Given the description of an element on the screen output the (x, y) to click on. 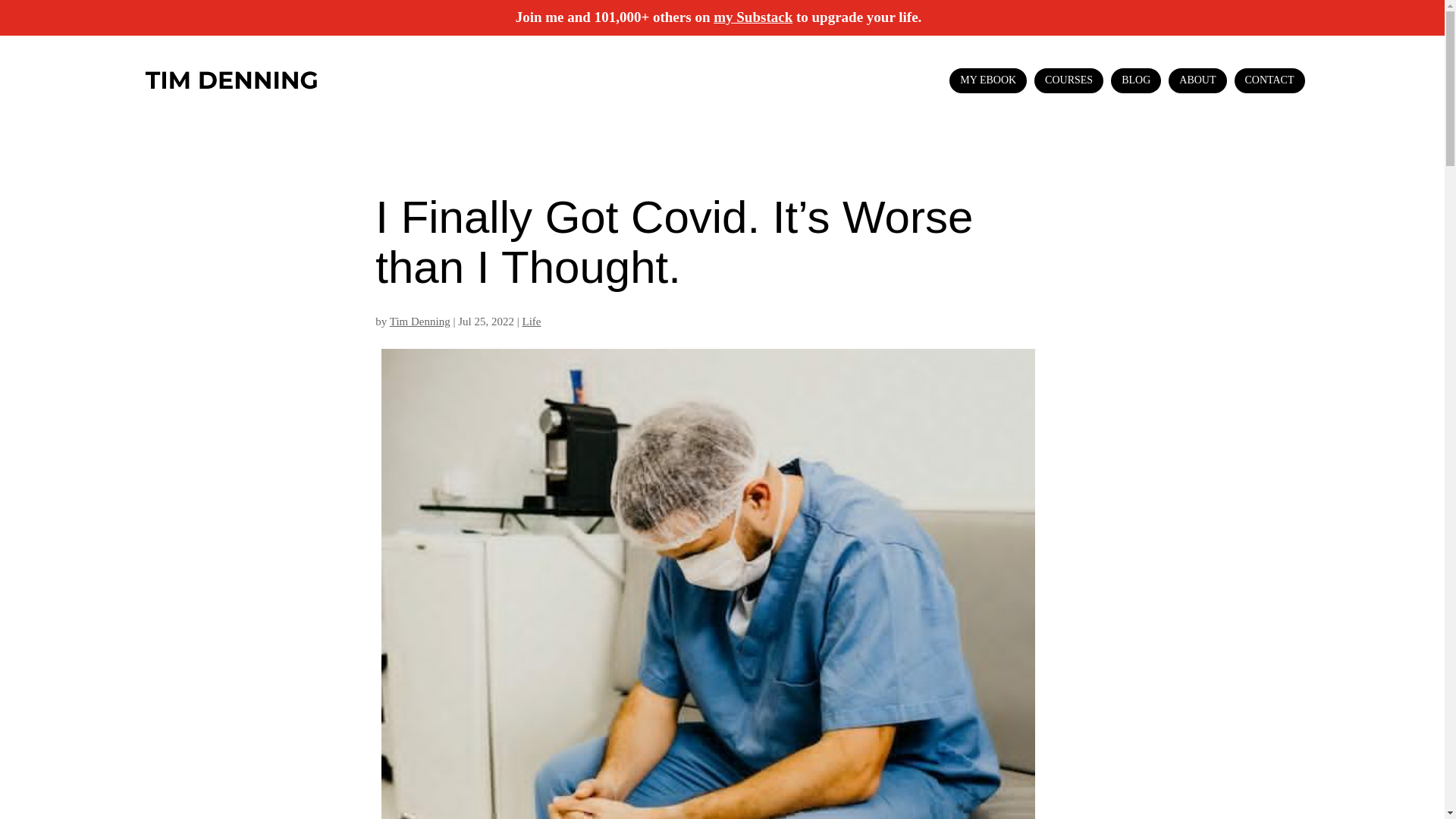
COURSES (1068, 80)
BLOG (1135, 80)
Posts by Tim Denning (419, 321)
Tim Denning (419, 321)
ABOUT (1197, 80)
CONTACT (1269, 80)
Life (530, 321)
MY EBOOK (987, 80)
my Substack (752, 17)
